Given the description of an element on the screen output the (x, y) to click on. 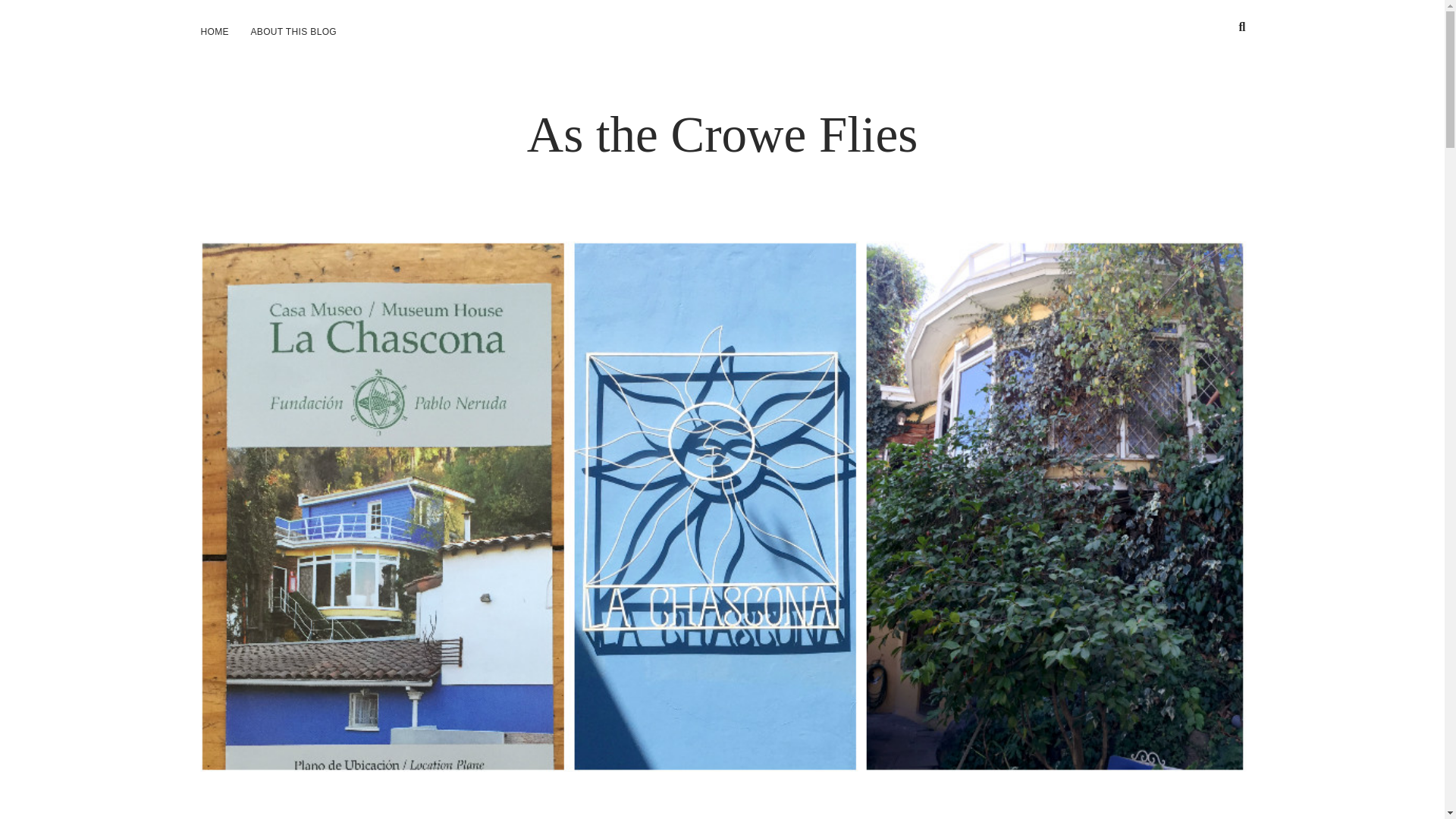
As the Crowe Flies (722, 134)
ABOUT THIS BLOG (293, 31)
HOME (213, 31)
